Given the description of an element on the screen output the (x, y) to click on. 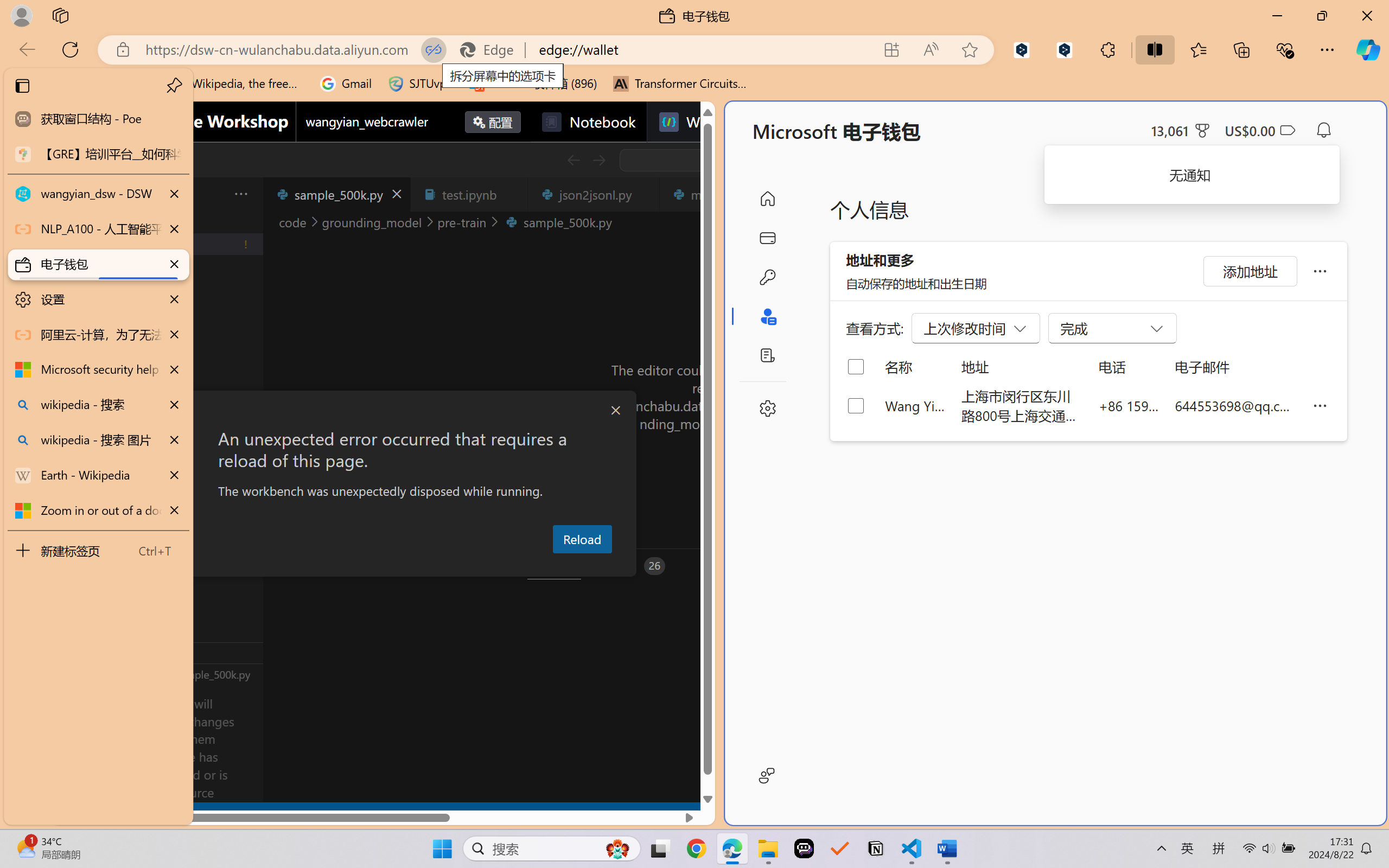
Problems (Ctrl+Shift+M) (308, 565)
Copilot (Ctrl+Shift+.) (1368, 49)
Class: actions-container (381, 410)
Explorer actions (212, 194)
Terminal actions (1002, 565)
Class: ___1lmltc5 f1agt3bx f12qytpq (1286, 130)
